Given the description of an element on the screen output the (x, y) to click on. 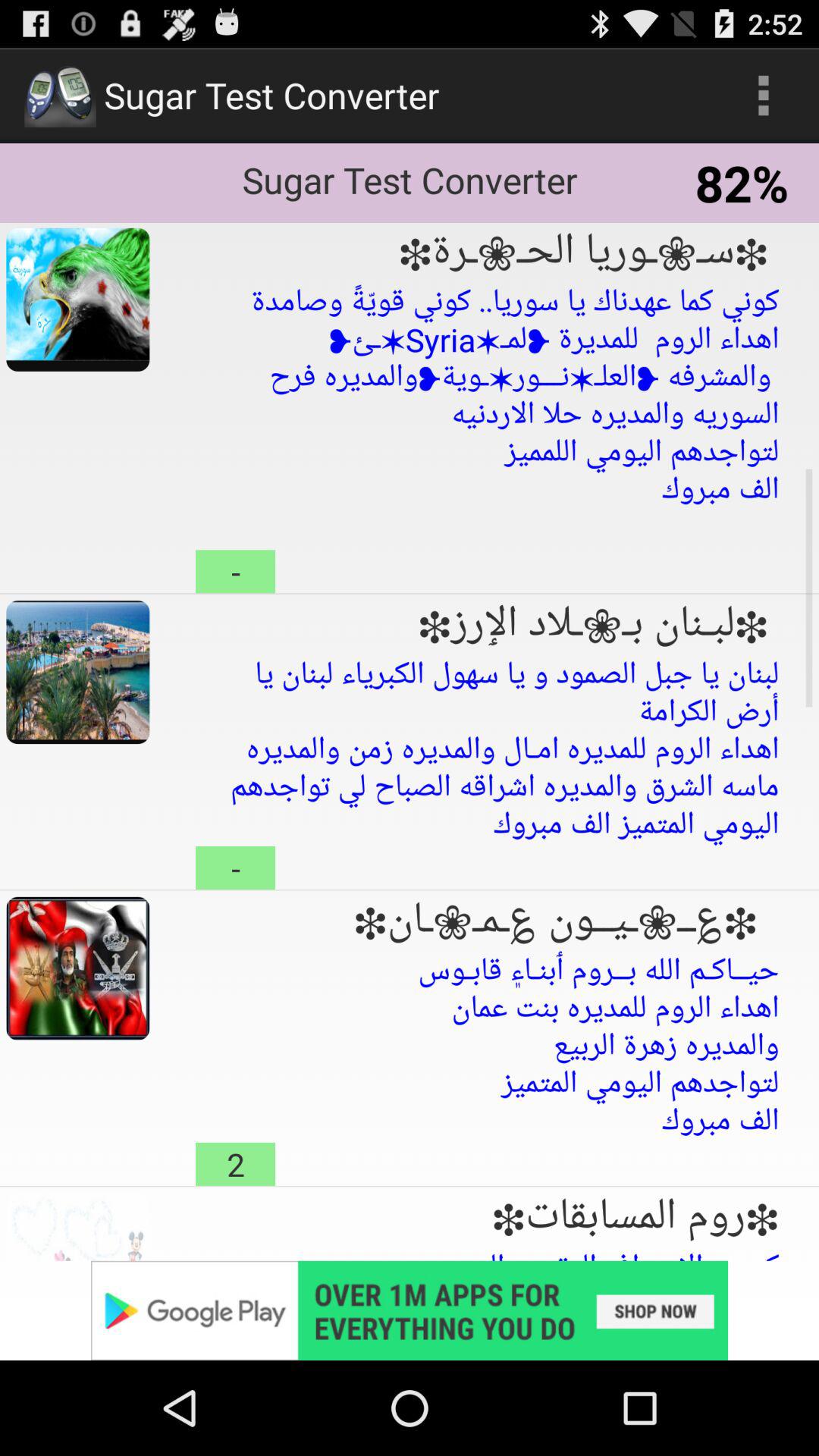
go to advertisement in google play (409, 1310)
